Given the description of an element on the screen output the (x, y) to click on. 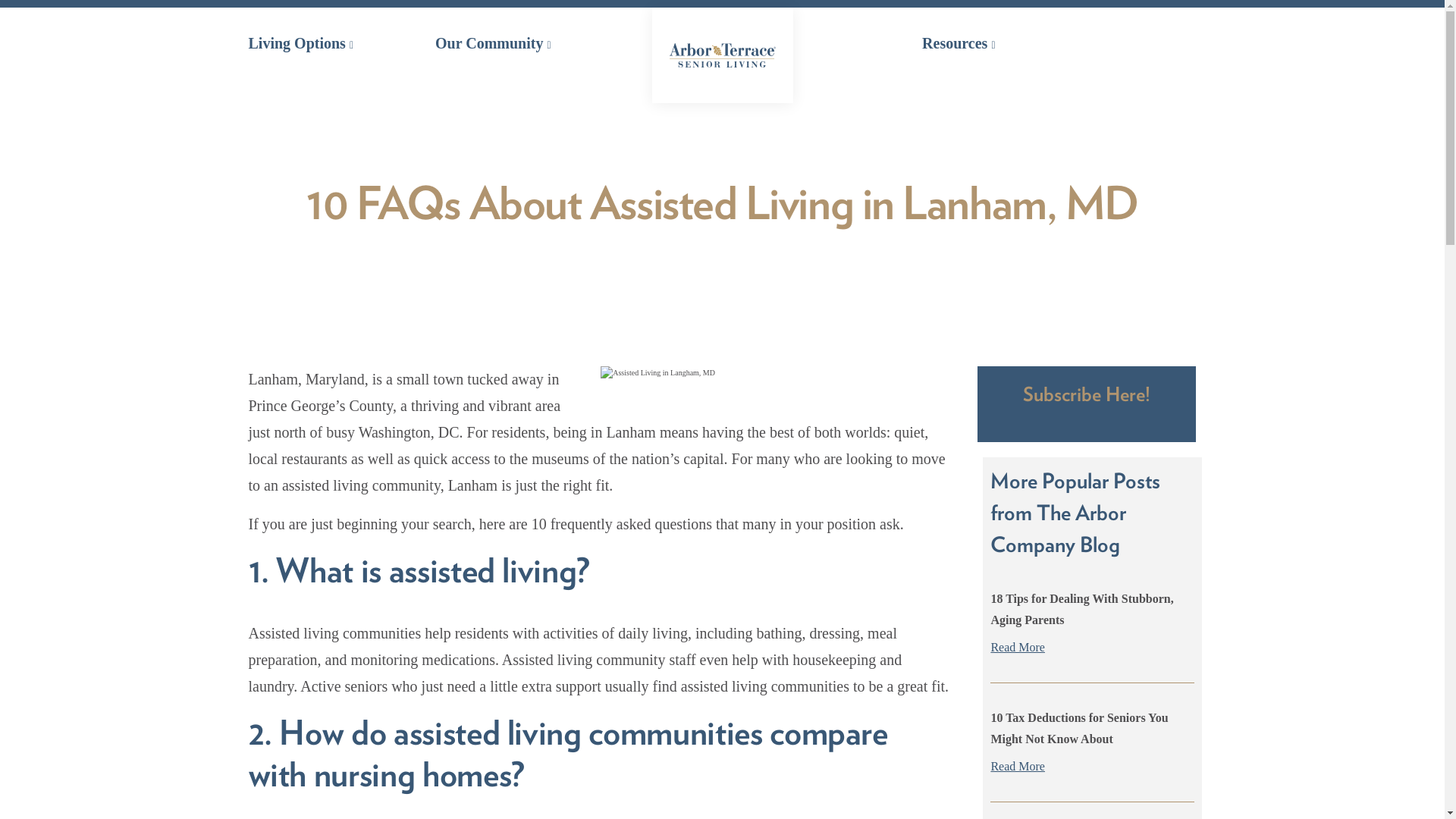
Living Options (300, 43)
Read More (1091, 766)
Resources (957, 43)
Our Community (493, 43)
Scroll to next section (722, 286)
10 Tax Deductions for Seniors You Might Not Know About (1078, 728)
18 Tips for Dealing With Stubborn, Aging Parents (1081, 609)
Scroll to next section (722, 286)
Read More (1091, 647)
The Arbor Company Blog (1057, 528)
